Given the description of an element on the screen output the (x, y) to click on. 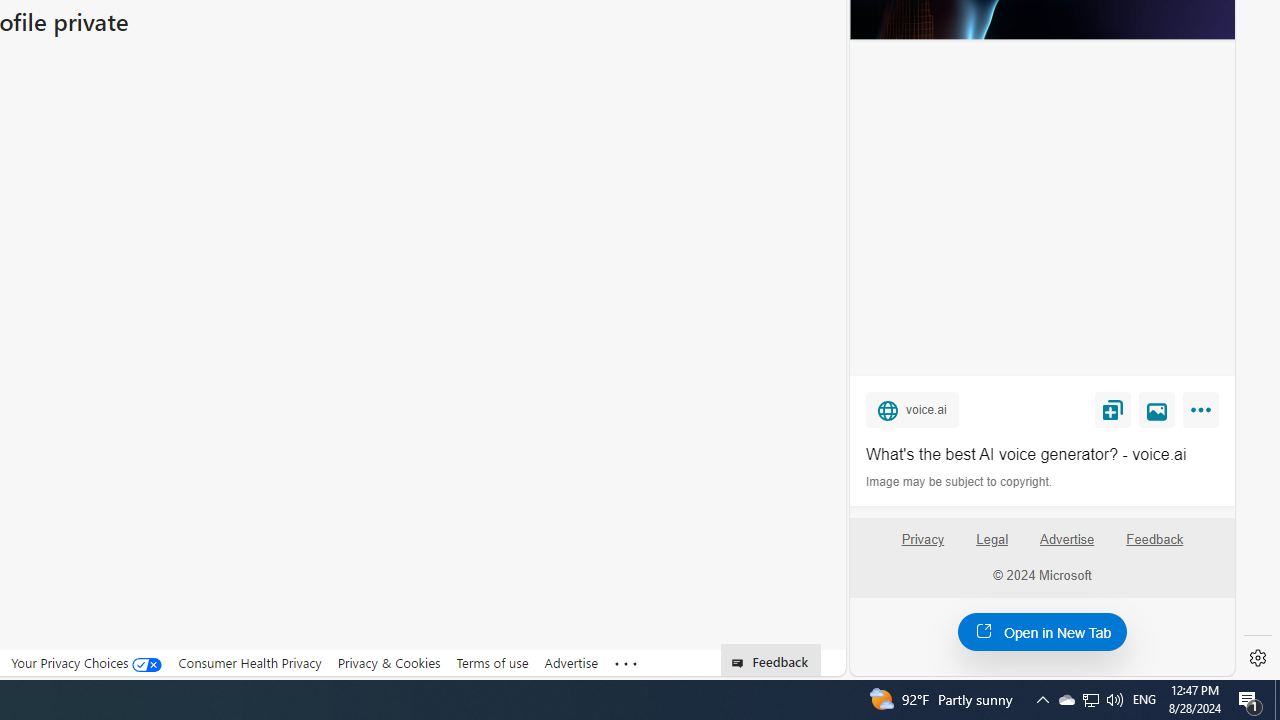
Image may be subject to copyright. (959, 481)
voice.ai (912, 409)
Advertise (1066, 539)
Your Privacy Choices (86, 662)
Privacy & Cookies (388, 662)
Class: feedback_link_icon-DS-EntryPoint1-1 (740, 663)
Terms of use (491, 663)
Consumer Health Privacy (249, 662)
Legal (991, 539)
Save (1112, 409)
Advertise (1067, 547)
Feedback (1154, 547)
Your Privacy Choices (86, 663)
Feedback (1155, 539)
